Given the description of an element on the screen output the (x, y) to click on. 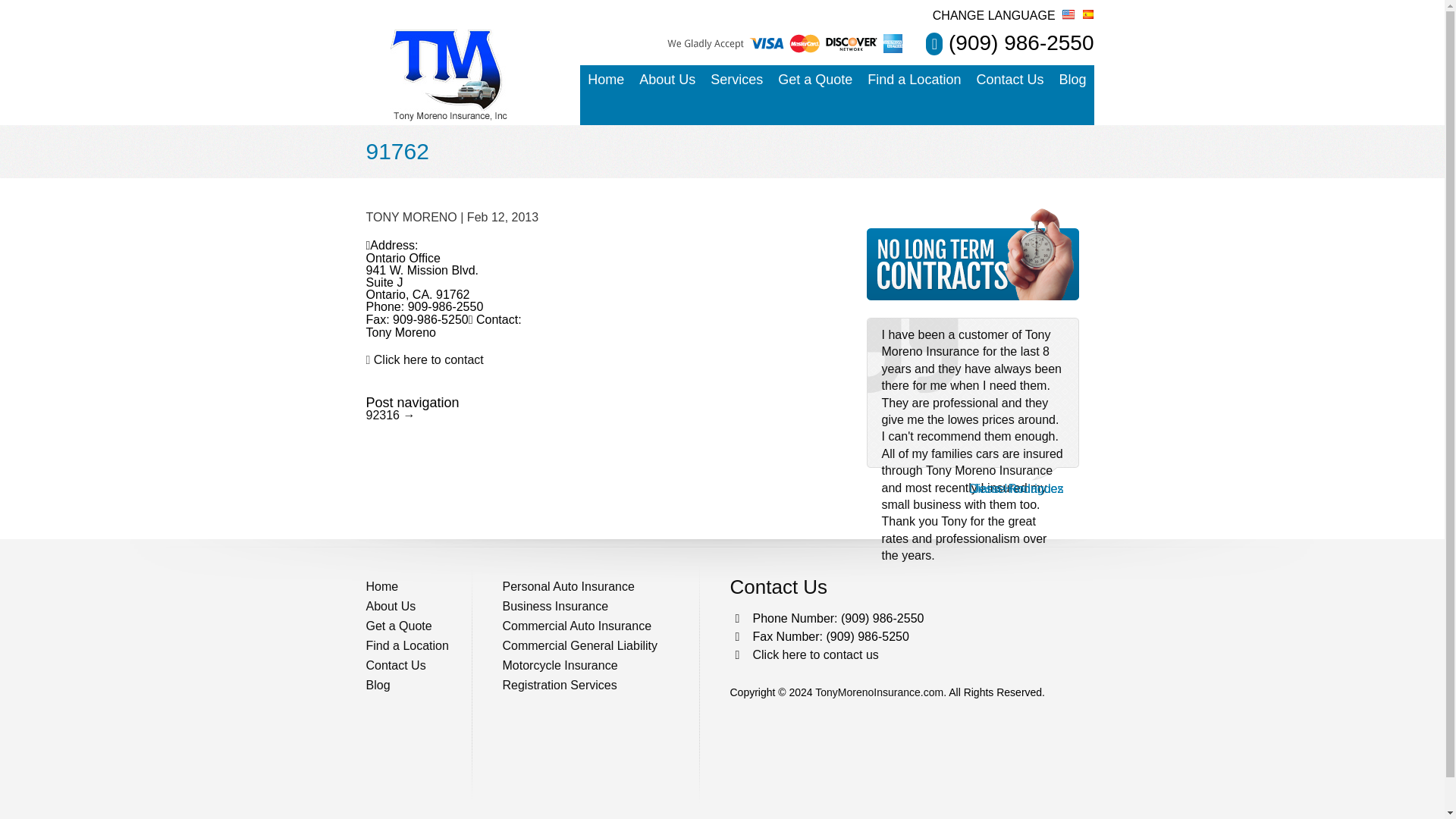
Find a Location (914, 79)
Tony Moreno Insurance (448, 77)
Get a Quote (815, 79)
Home (605, 79)
About Us (667, 79)
Click here to contact (428, 359)
Services (736, 79)
Home (425, 587)
Contact Us (1009, 79)
Get a Quote (972, 295)
About Us (425, 606)
Blog (1072, 79)
